Given the description of an element on the screen output the (x, y) to click on. 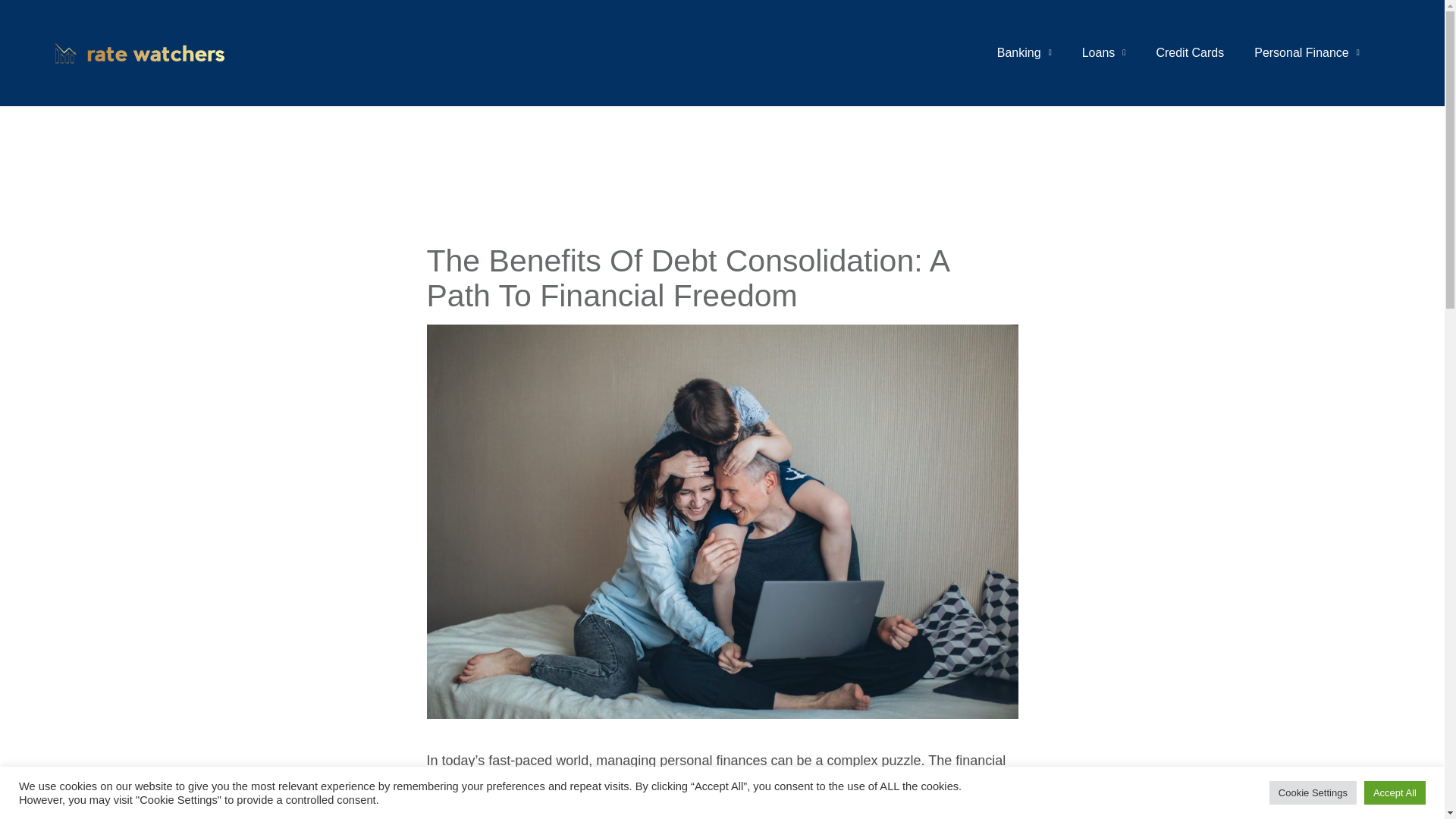
Loans (1103, 53)
Banking (1023, 53)
Cookie Settings (1312, 792)
Credit Cards (1189, 53)
Personal Finance (1306, 53)
Accept All (1394, 792)
